Given the description of an element on the screen output the (x, y) to click on. 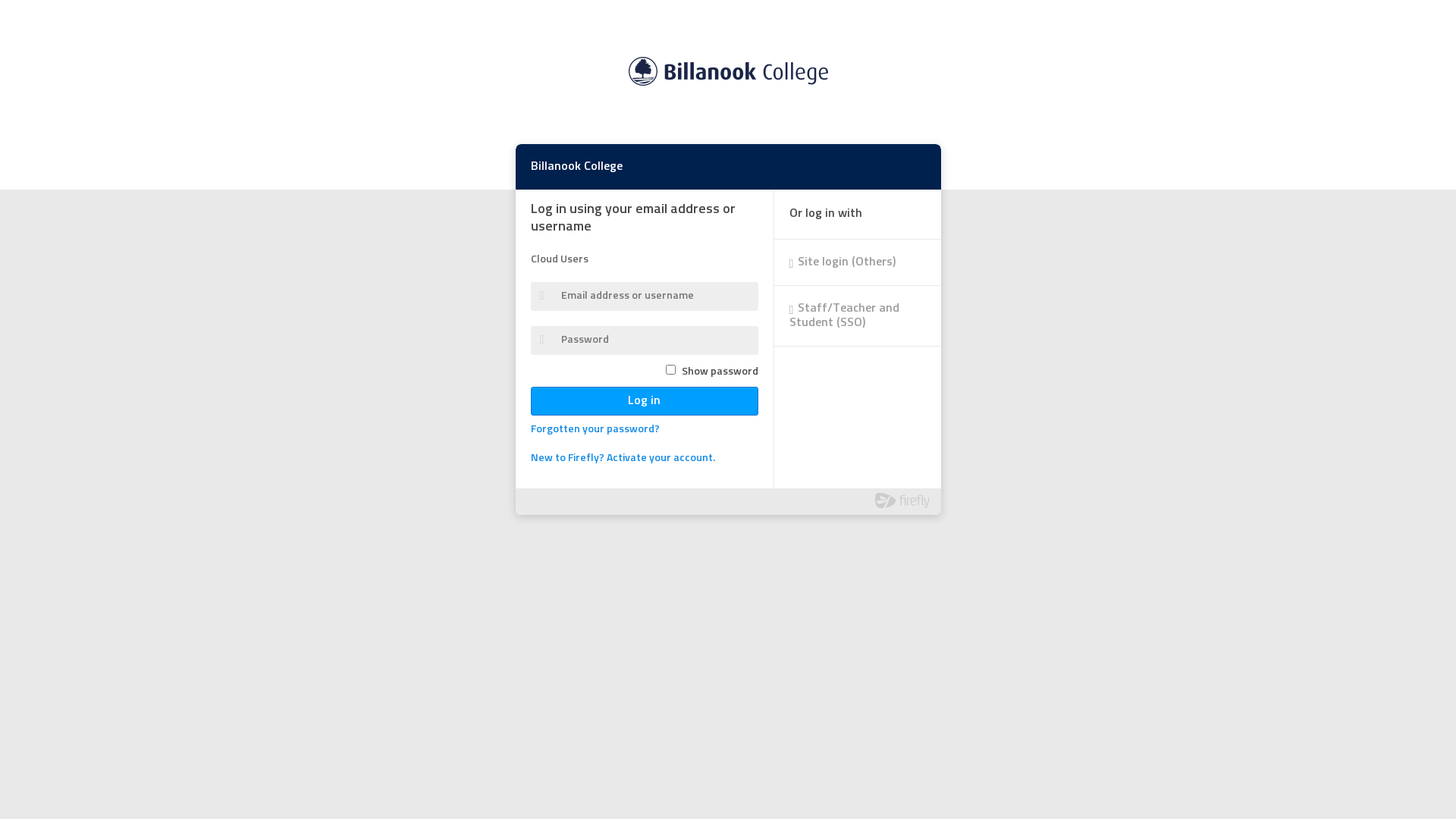
Log in Element type: text (644, 400)
Site login (Others) Element type: text (856, 262)
Forgotten your password? Element type: text (594, 429)
Staff/Teacher and Student (SSO) Element type: text (856, 315)
New to Firefly? Activate your account. Element type: text (622, 458)
